Given the description of an element on the screen output the (x, y) to click on. 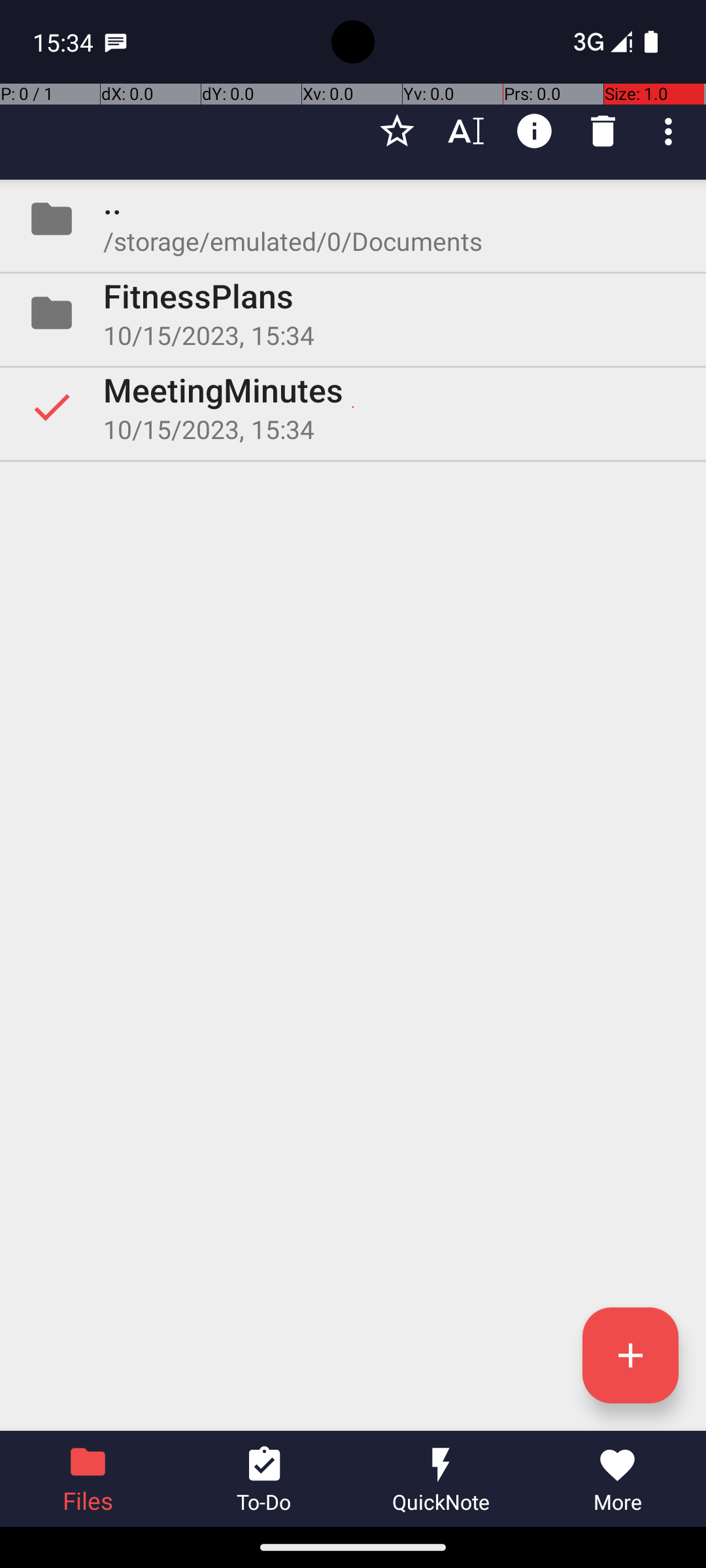
Favourite Element type: android.widget.TextView (396, 131)
Rename Element type: android.widget.TextView (465, 131)
Details Element type: android.widget.TextView (534, 131)
Folder FitnessPlans  Element type: android.widget.LinearLayout (353, 312)
Selected MeetingMinutes /storage/emulated/0/Documents Element type: android.widget.LinearLayout (353, 406)
